Given the description of an element on the screen output the (x, y) to click on. 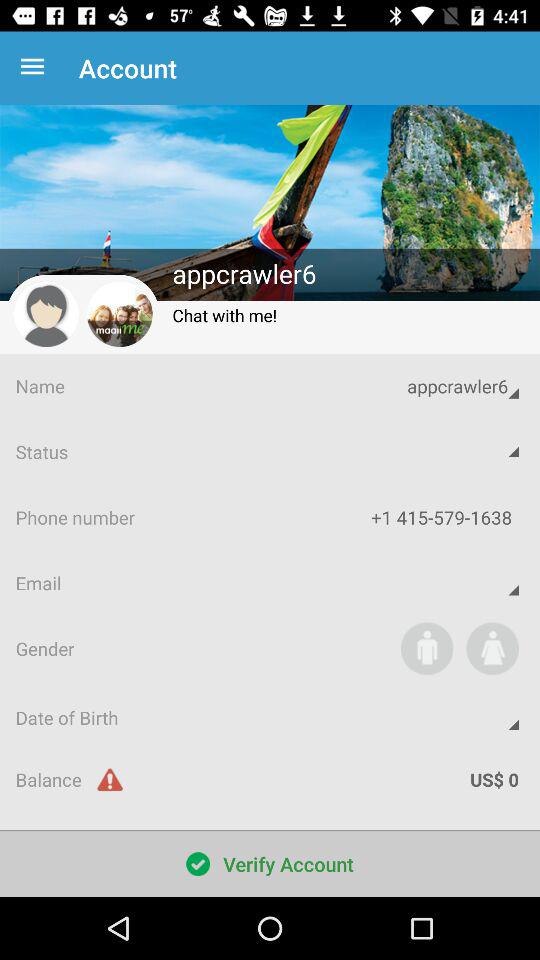
turn on icon next to the gender icon (426, 648)
